Given the description of an element on the screen output the (x, y) to click on. 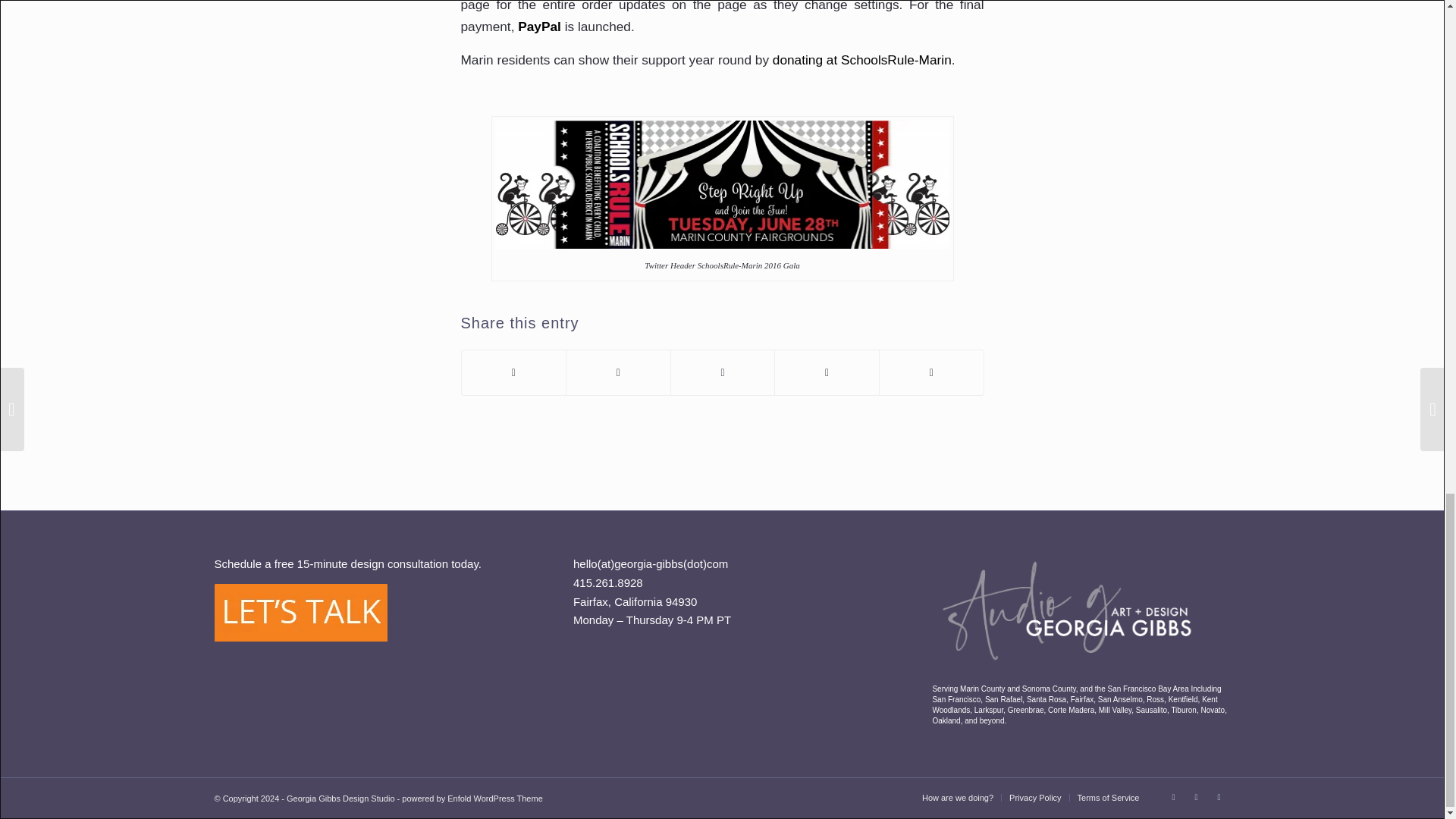
How are we doing? (956, 797)
Instagram (1218, 796)
Twitter Header SchoolsRule-Marin 2016 Gala (722, 184)
X (1173, 796)
powered by Enfold WordPress Theme (471, 798)
Privacy Policy (1035, 797)
Terms of Service (1108, 797)
Facebook (1196, 796)
donating at SchoolsRule-Marin (862, 59)
415.261.8928 (608, 582)
